Given the description of an element on the screen output the (x, y) to click on. 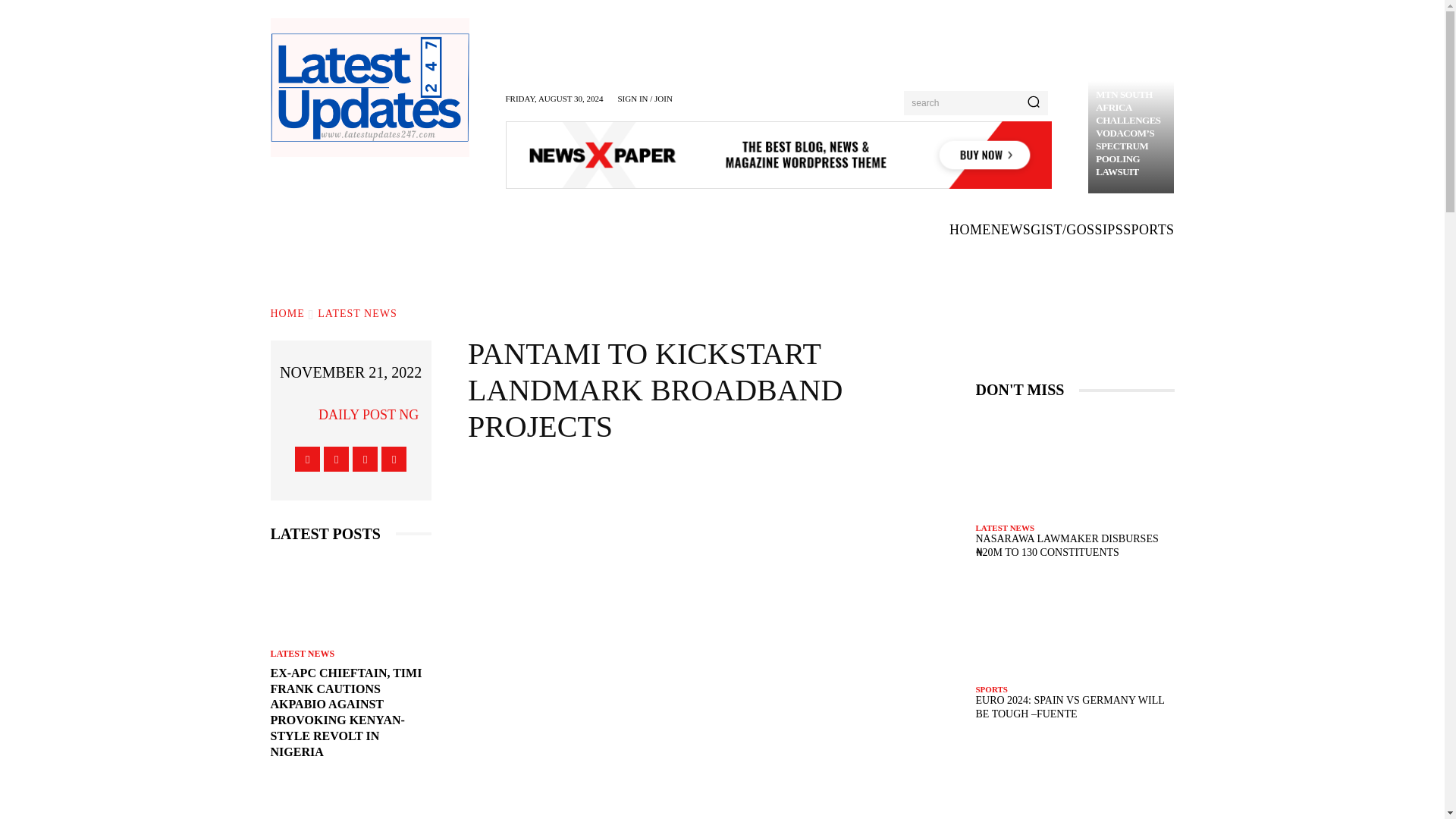
View all posts in Latest News (356, 313)
DAILY POST NG (368, 414)
Instagram (336, 458)
Youtube (393, 458)
HOME (286, 313)
Twitter (364, 458)
SPORTS (1147, 229)
NEWS (1010, 229)
LATEST NEWS (356, 313)
